Given the description of an element on the screen output the (x, y) to click on. 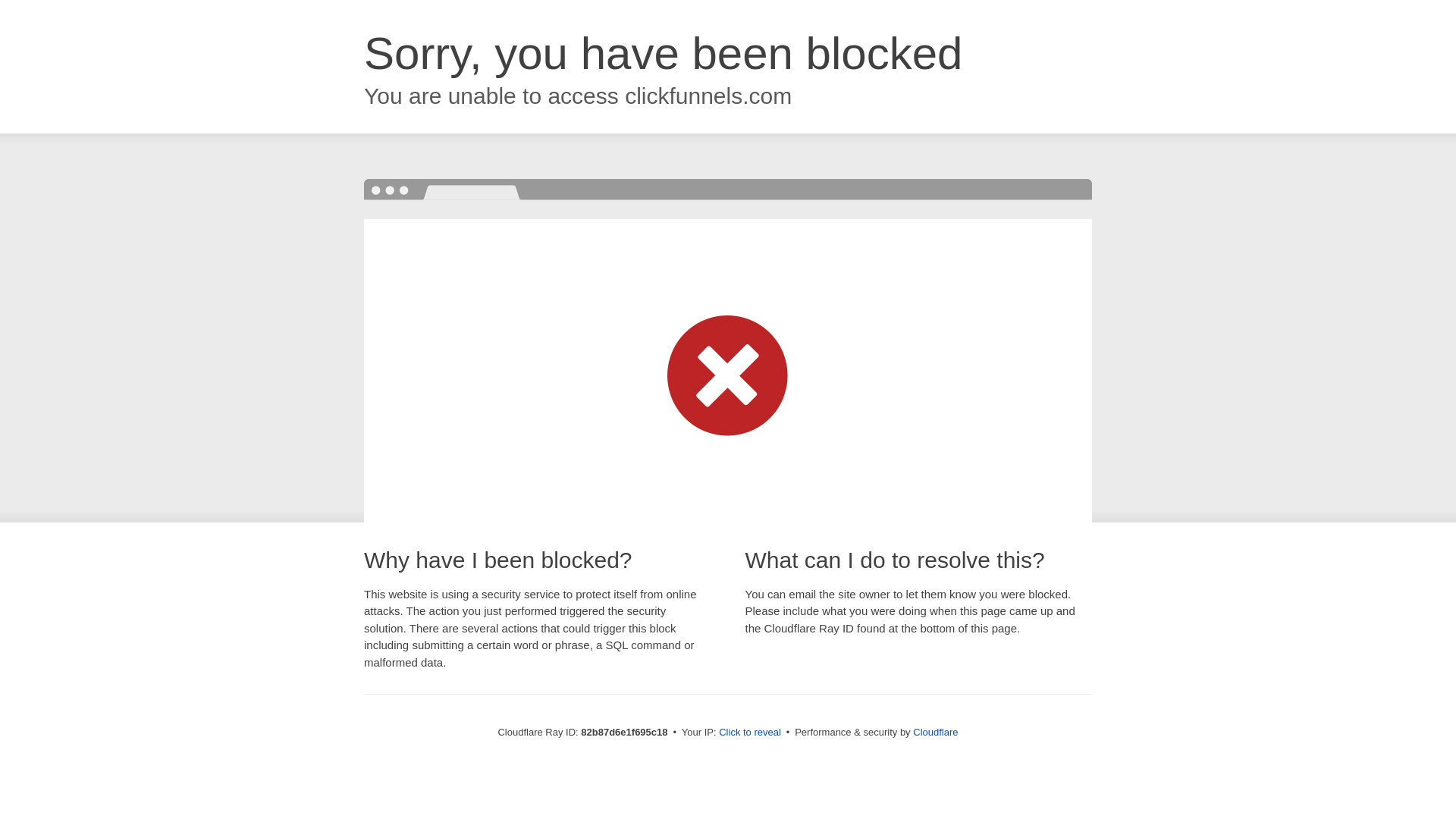
Cloudflare Element type: text (935, 731)
Click to reveal Element type: text (749, 732)
